Given the description of an element on the screen output the (x, y) to click on. 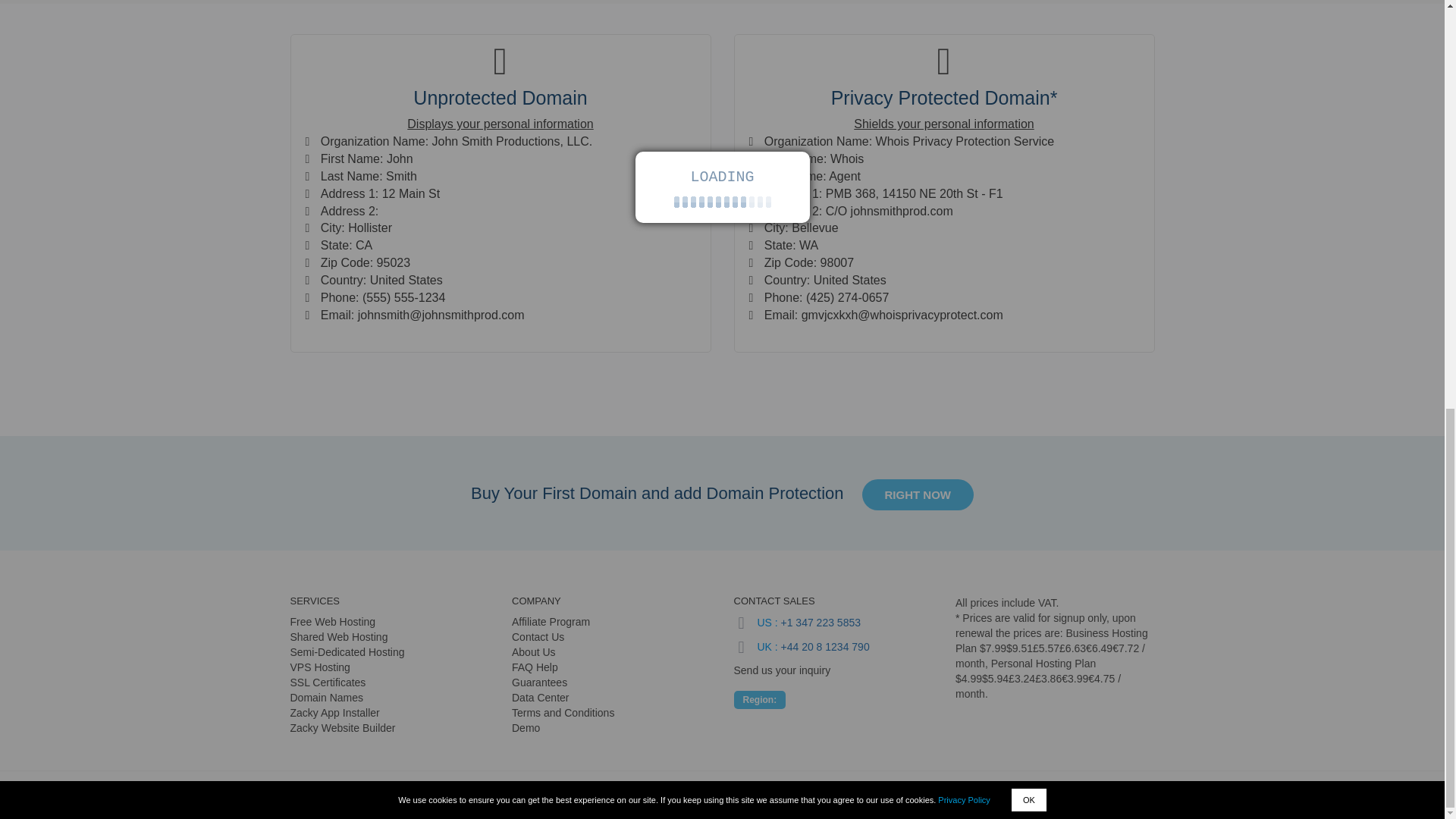
Free Web Hosting (332, 621)
Terms and Conditions (563, 712)
Demo (526, 727)
Contact Us (538, 636)
RIGHT NOW (917, 494)
VPS Hosting (319, 666)
FAQ Help (534, 666)
Affiliate Program (550, 621)
Zacky App Installer (333, 712)
Shared Web Hosting (338, 636)
